Given the description of an element on the screen output the (x, y) to click on. 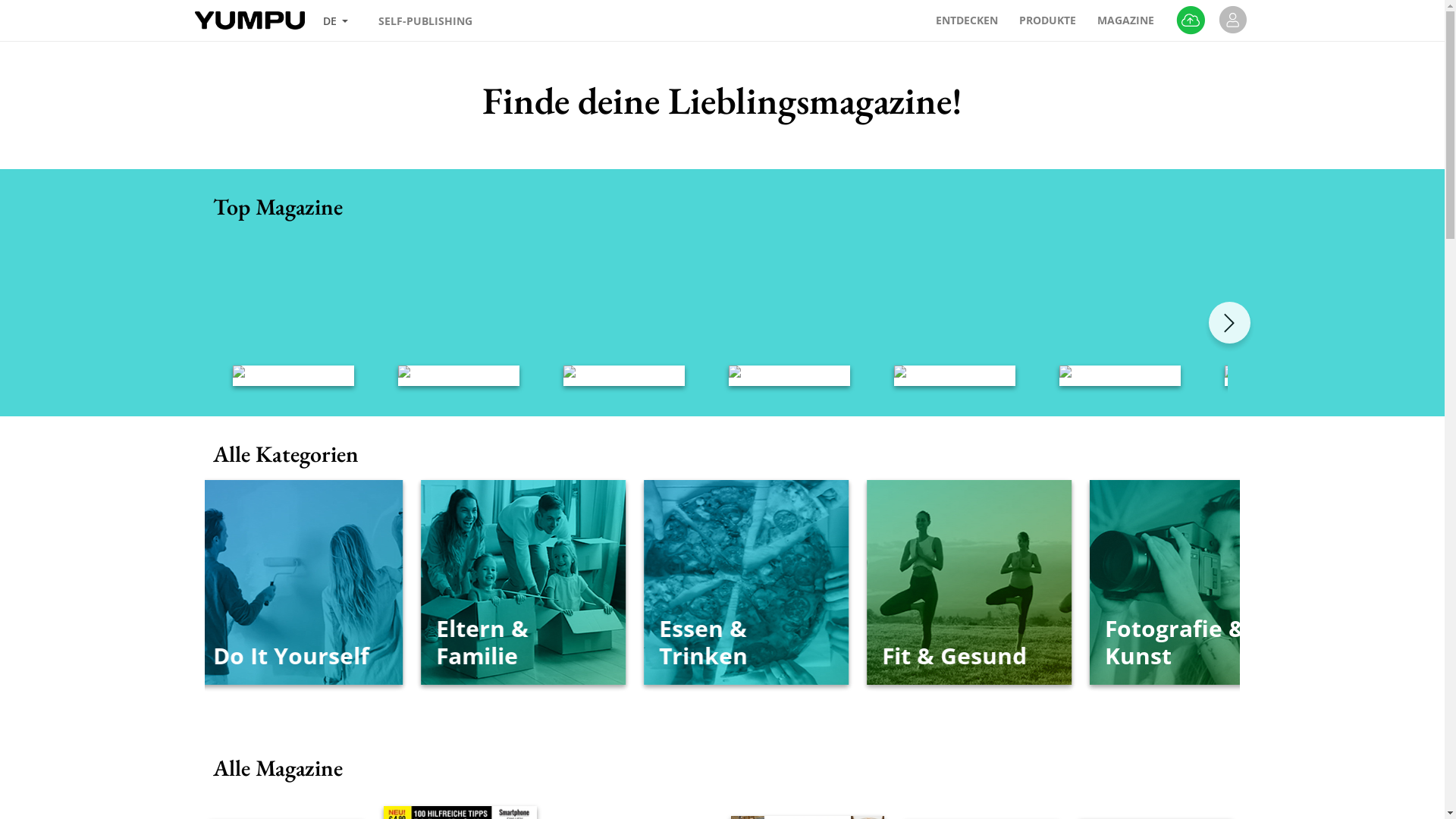
Mein PDF hier hochladen Element type: hover (1190, 20)
SELF-PUBLISHING Element type: text (425, 20)
Eltern & Familie Element type: text (781, 581)
Do It Yourself Element type: text (559, 581)
Yumpu Element type: hover (246, 19)
Fit & Gesund Element type: text (1226, 581)
Essen & Trinken Element type: text (1003, 581)
Computer & Technik Element type: text (338, 581)
PRODUKTE Element type: text (1049, 20)
DE Element type: text (335, 20)
MAGAZINE Element type: text (1127, 20)
ENTDECKEN Element type: text (968, 20)
